Given the description of an element on the screen output the (x, y) to click on. 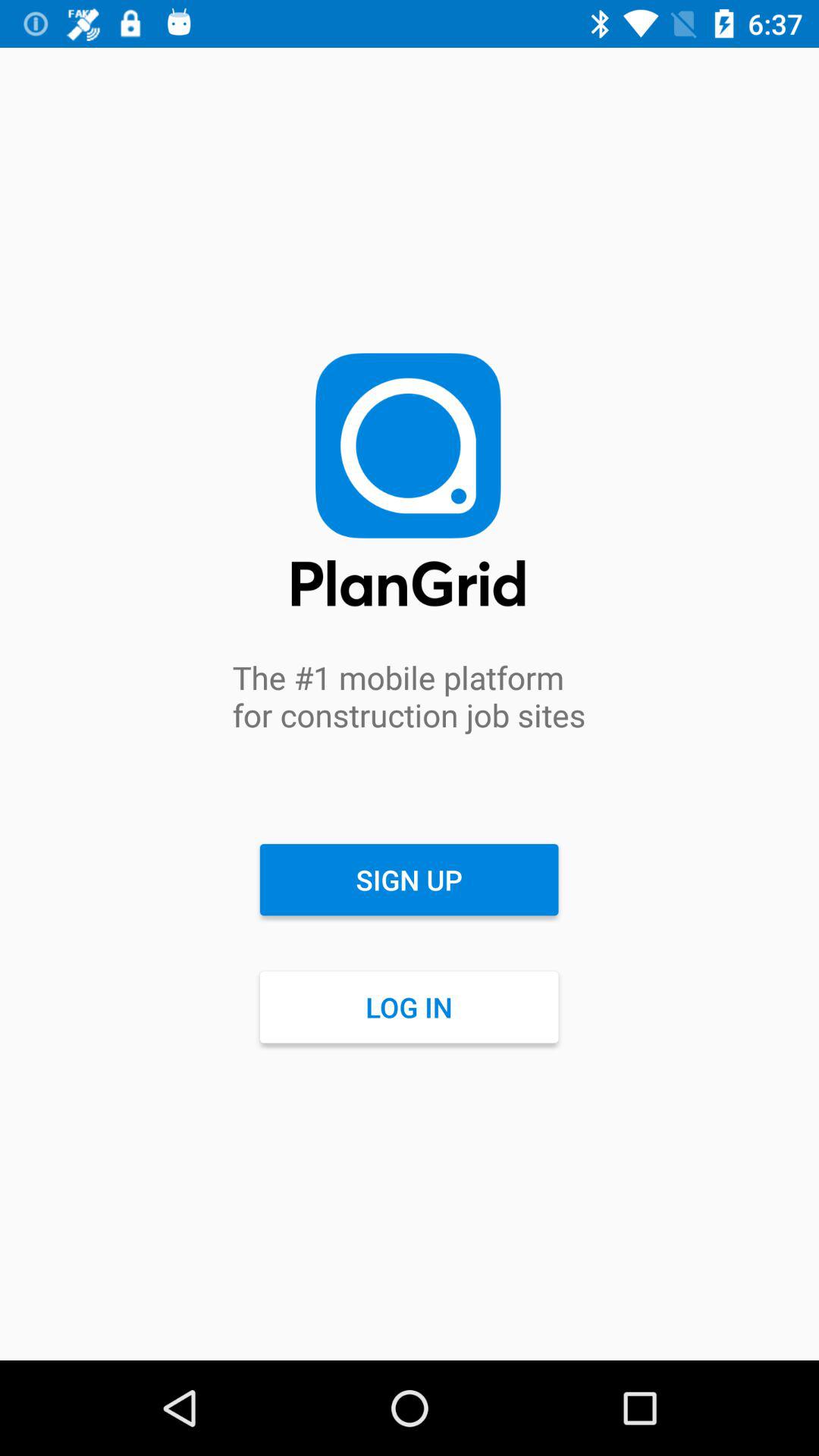
turn off log in icon (408, 1007)
